Given the description of an element on the screen output the (x, y) to click on. 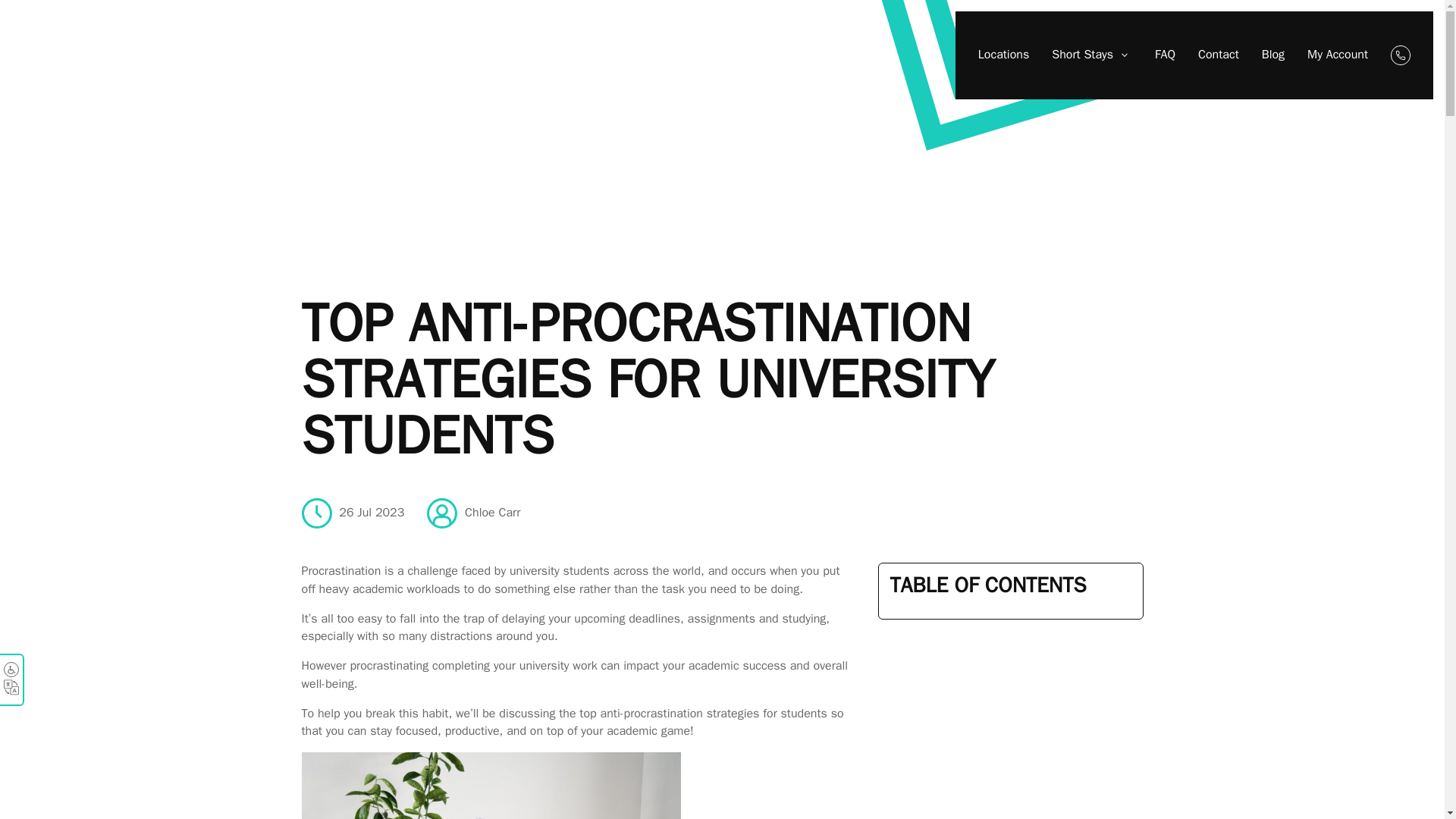
Short Stays (1091, 54)
FAQ (1164, 54)
My Account (1337, 54)
Blog (1273, 54)
Blog (1273, 54)
Locations (1003, 54)
Contact (1218, 54)
Short Stays (1091, 54)
FAQ (1164, 54)
My Account (1337, 54)
Locations (1003, 54)
Contact (1218, 54)
